Given the description of an element on the screen output the (x, y) to click on. 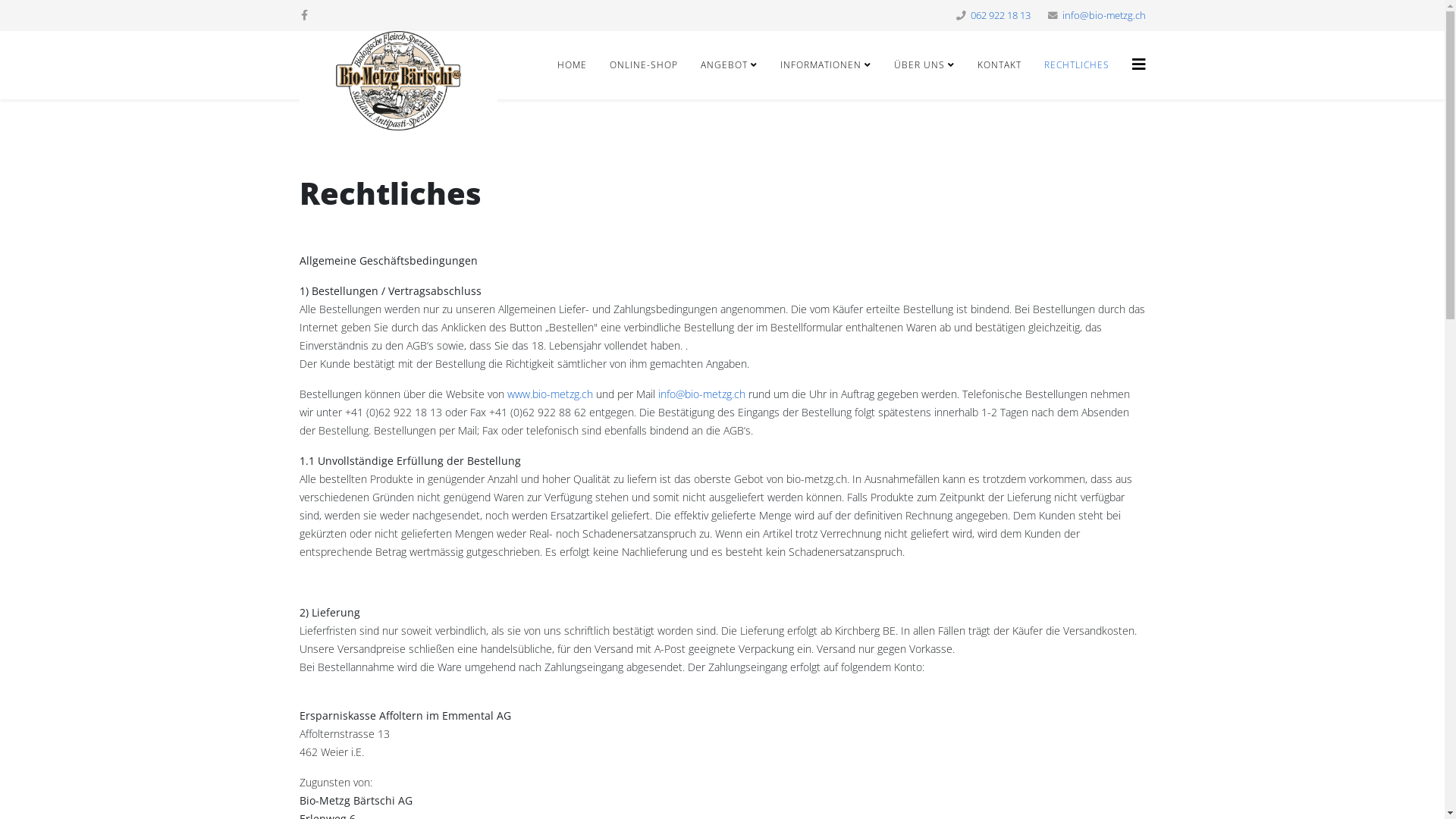
Helix3 Megamenu Options Element type: hover (1138, 64)
INFORMATIONEN Element type: text (825, 65)
info@bio-metzg.ch Element type: text (1103, 15)
ANGEBOT Element type: text (728, 65)
RECHTLICHES Element type: text (1076, 65)
ONLINE-SHOP Element type: text (642, 65)
info@bio-metzg.ch Element type: text (701, 393)
KONTAKT Element type: text (999, 65)
www.bio-metzg.ch Element type: text (549, 393)
HOME Element type: text (572, 65)
062 922 18 13 Element type: text (1000, 15)
